Given the description of an element on the screen output the (x, y) to click on. 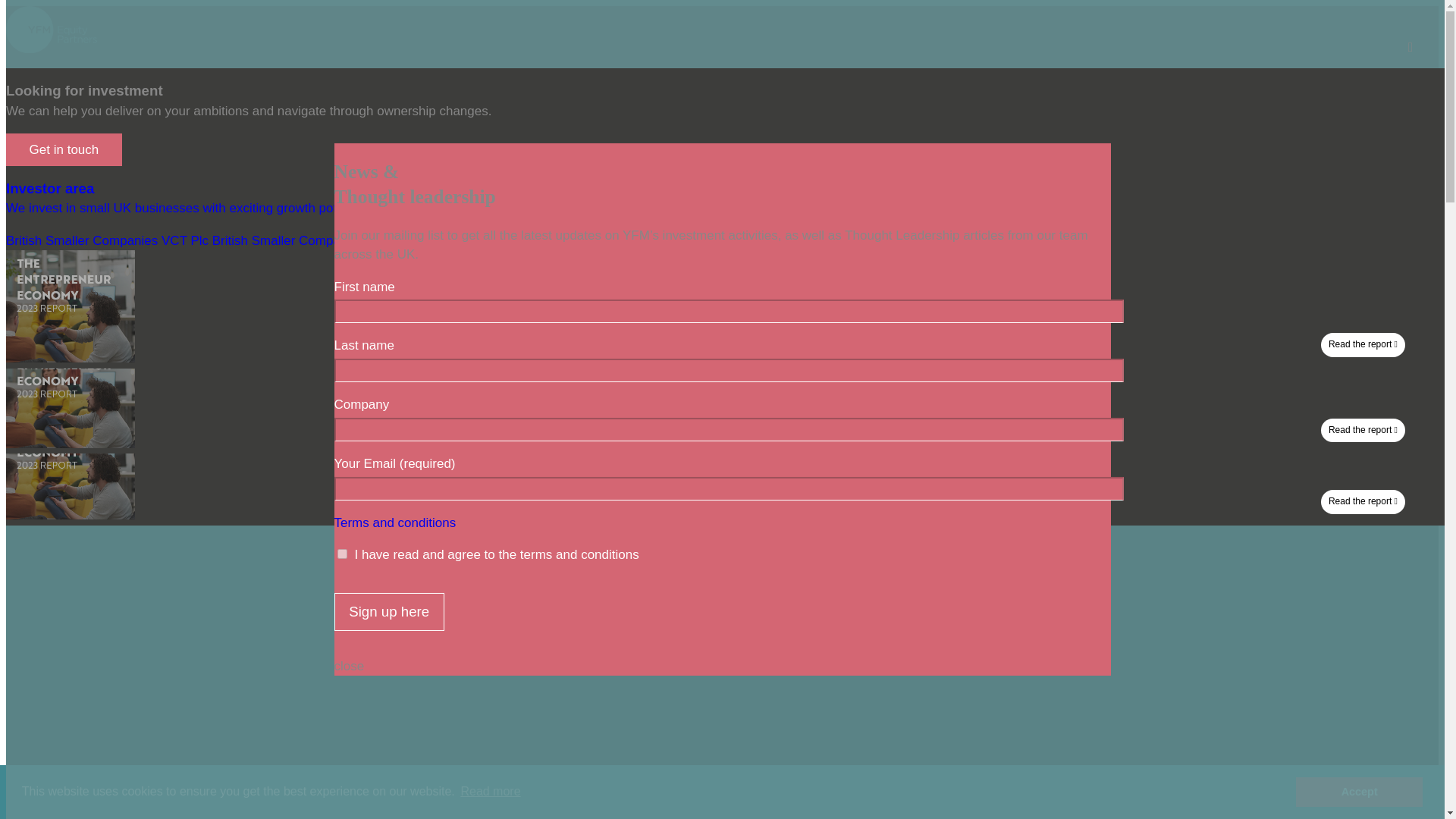
British Smaller Companies VCT Plc (106, 240)
Our investments (584, 84)
Looking for investment? (949, 84)
Insights (668, 84)
Who we are (406, 84)
What we do (489, 84)
Contact us (828, 84)
Read the report (70, 514)
Sign up here (388, 611)
Investor area (743, 84)
Get in touch (63, 149)
Read the report (70, 443)
1 (341, 553)
Read more (490, 791)
Accept (1358, 791)
